Given the description of an element on the screen output the (x, y) to click on. 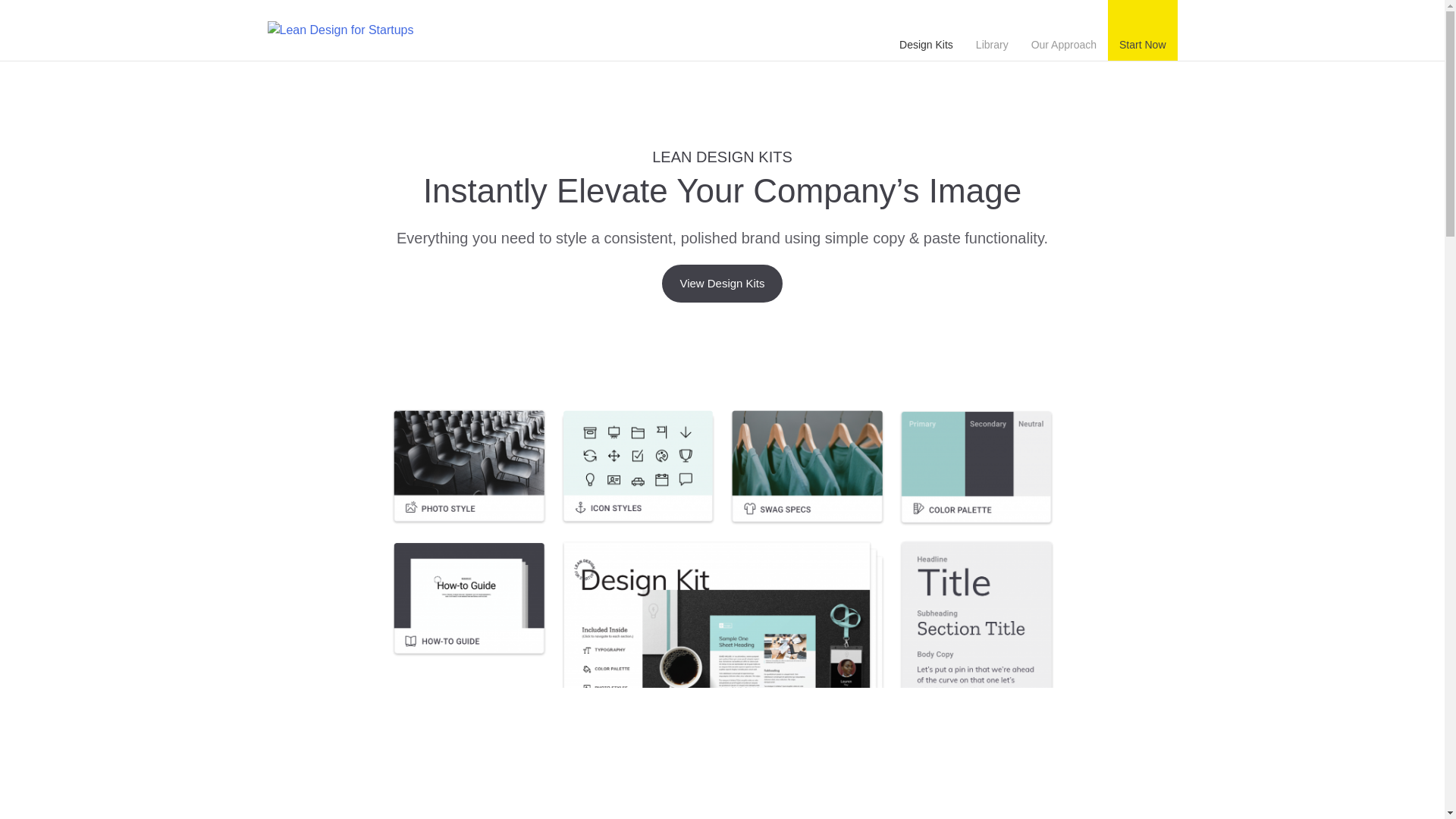
View Design Kits (722, 283)
Library (991, 30)
Design Kits (925, 30)
Our Approach (1064, 30)
Start Now (1142, 30)
